Given the description of an element on the screen output the (x, y) to click on. 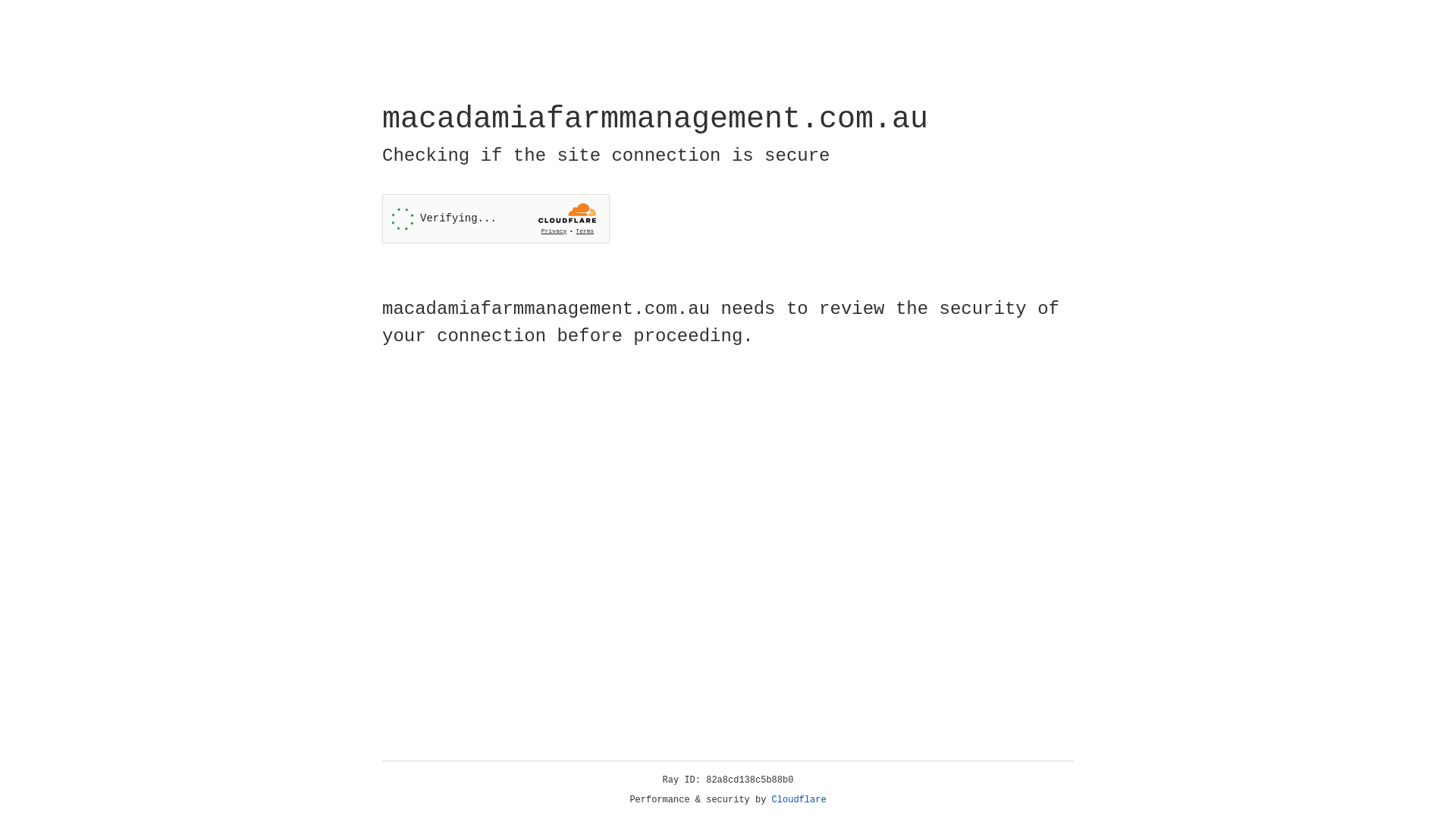
Widget containing a Cloudflare security challenge Element type: hover (495, 218)
Cloudflare Element type: text (798, 799)
